Given the description of an element on the screen output the (x, y) to click on. 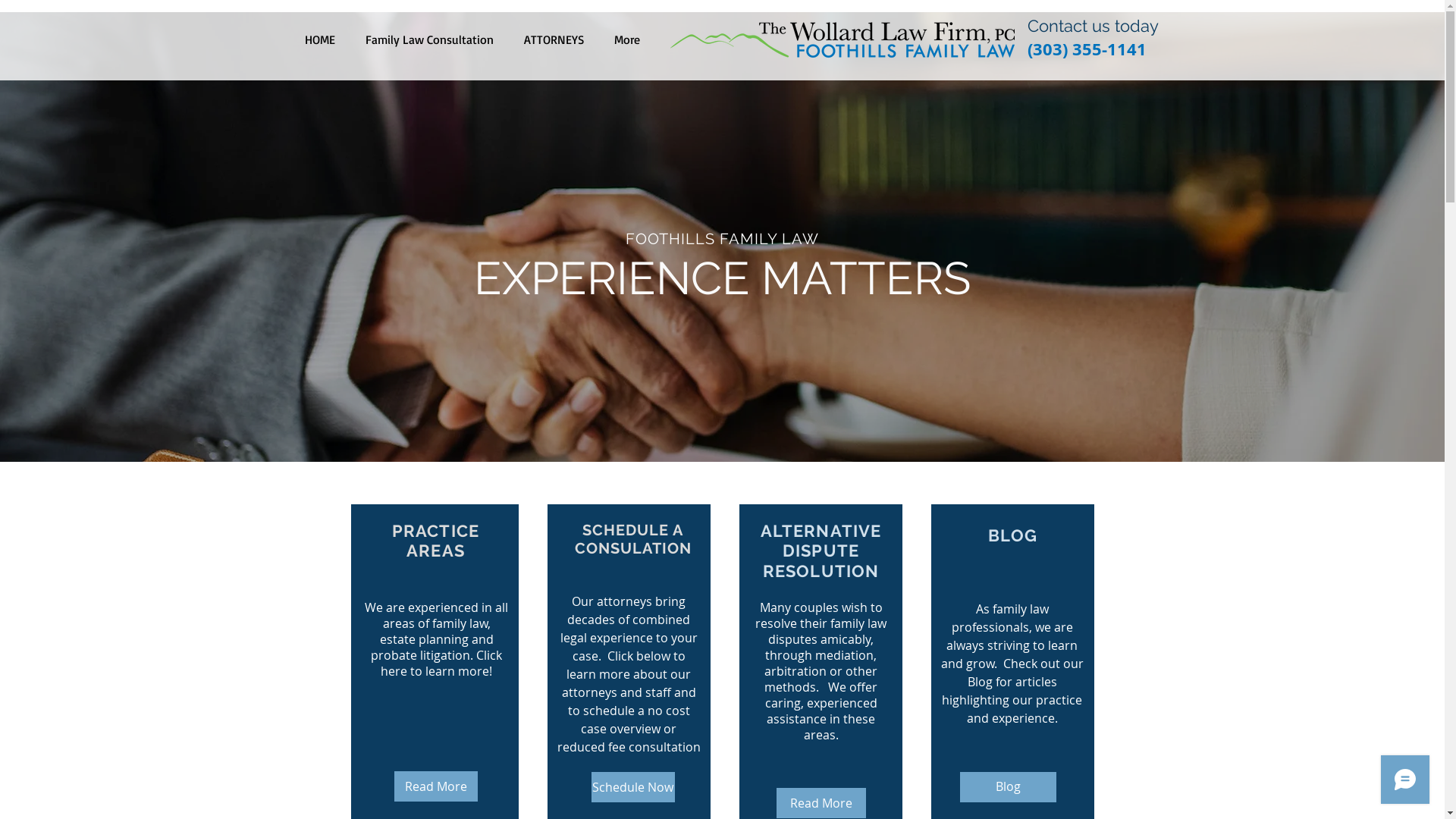
HOME Element type: text (319, 39)
Schedule Now Element type: text (632, 786)
Family Law Consultation Element type: text (429, 39)
ATTORNEYS Element type: text (553, 39)
Read More Element type: text (821, 802)
Read More Element type: text (435, 786)
Blog Element type: text (1008, 786)
